Given the description of an element on the screen output the (x, y) to click on. 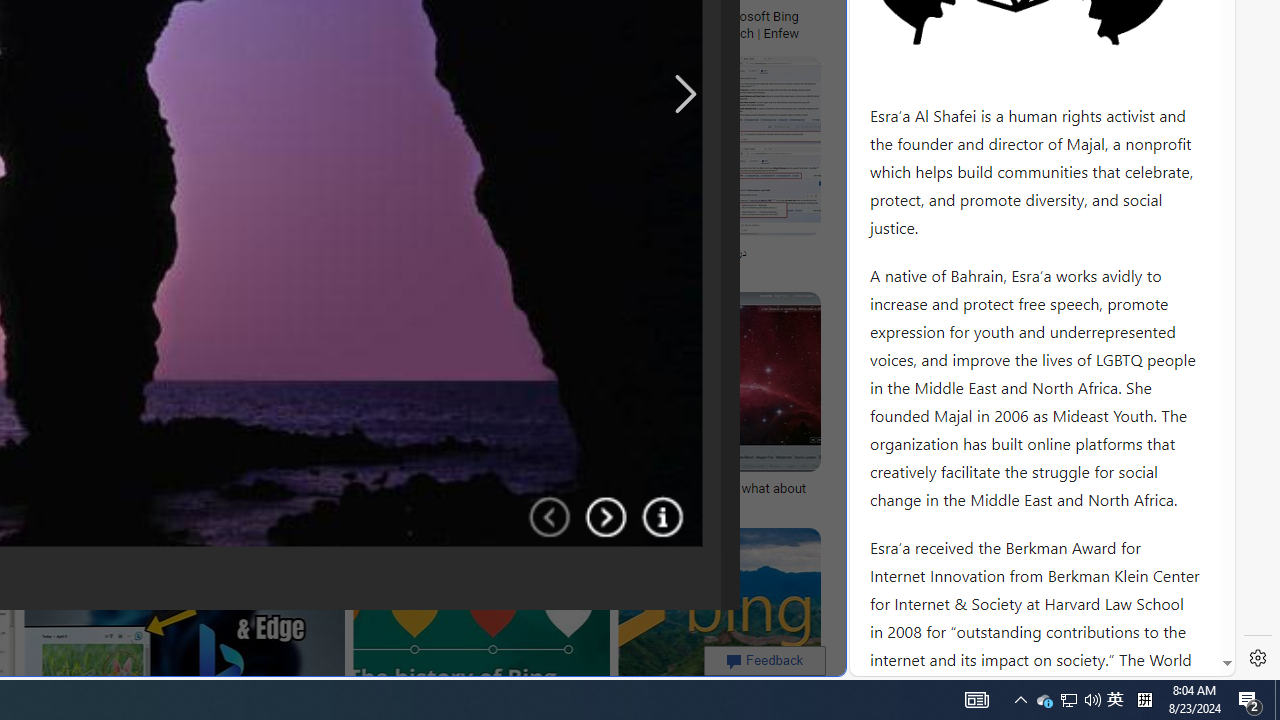
Microsoft Bing Search | Enfew (763, 24)
google_privacy_policy_zh-CN.pdf (687, 482)
Microsoft Bing Search | Enfew (763, 24)
microsoft bing (463, 16)
Bing (2009) (RARE/FAKE) - YouTube (345, 253)
